Given the description of an element on the screen output the (x, y) to click on. 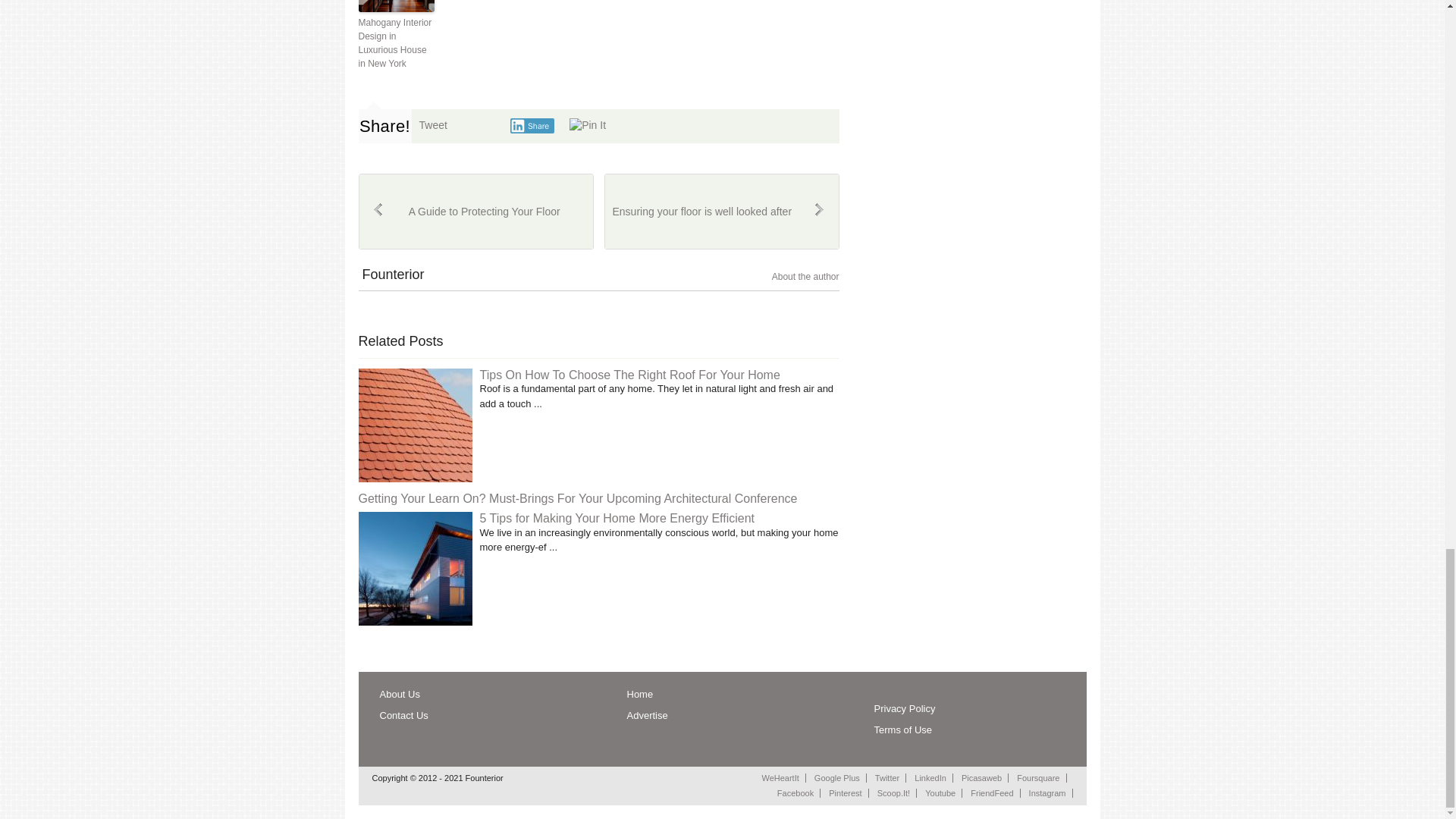
Pin It (587, 125)
